Given the description of an element on the screen output the (x, y) to click on. 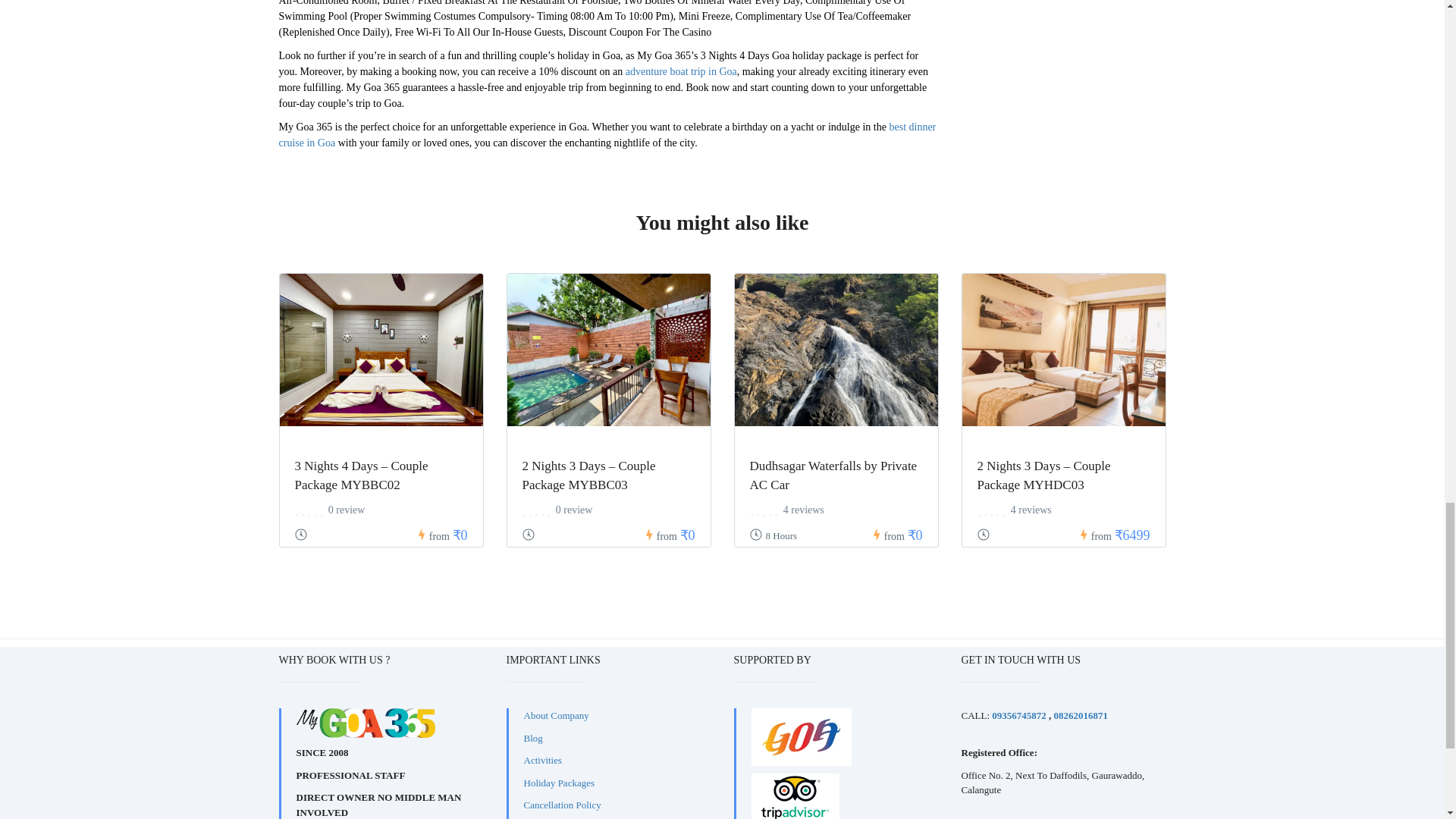
Holiday Packages (558, 782)
Activities (542, 759)
best dinner cruise in Goa (607, 134)
About Company (555, 715)
adventure boat trip in Goa (681, 71)
Dudhsagar Waterfalls by Private AC Car (833, 475)
Blog (531, 737)
